Given the description of an element on the screen output the (x, y) to click on. 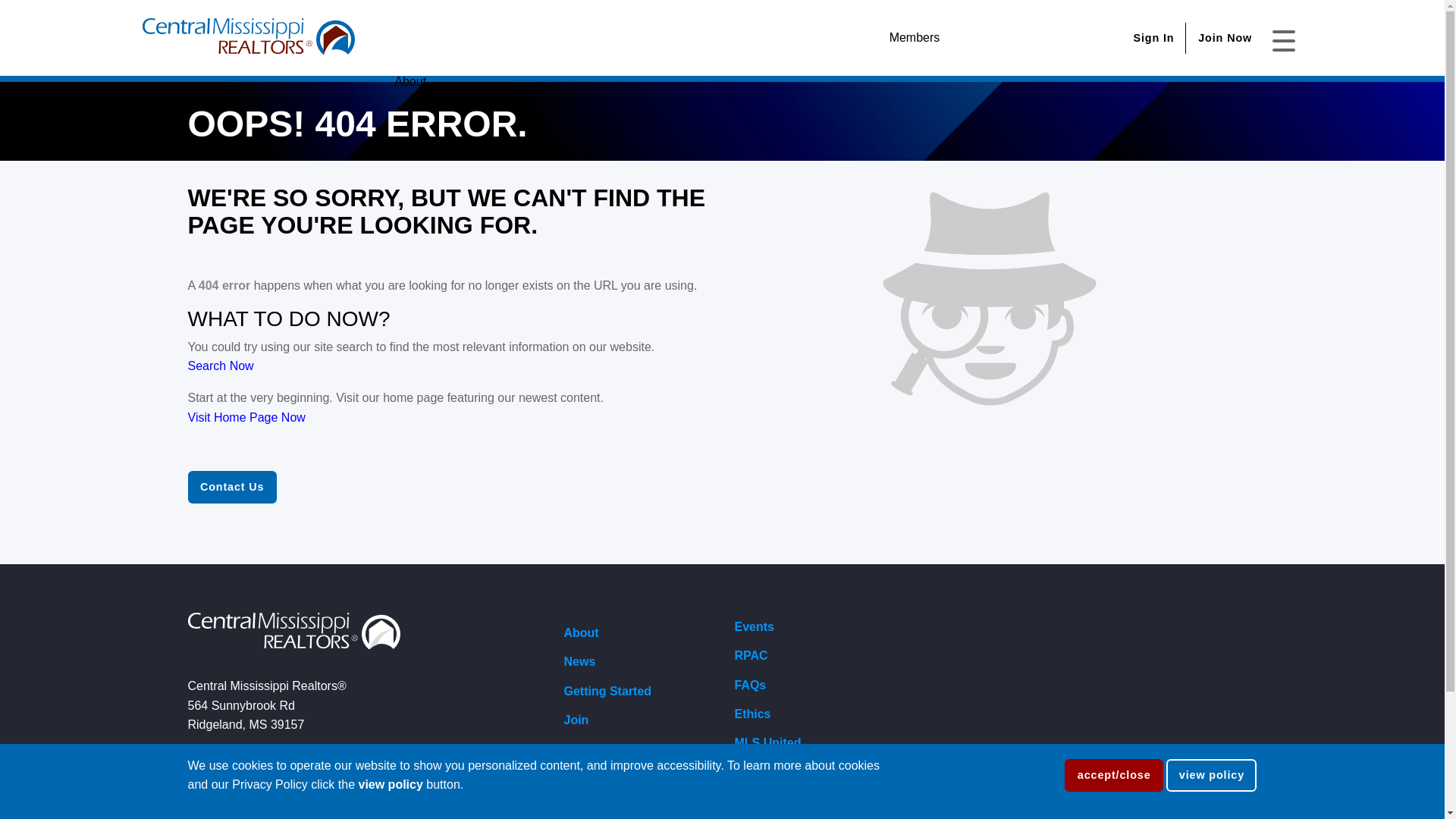
About (445, 81)
